Given the description of an element on the screen output the (x, y) to click on. 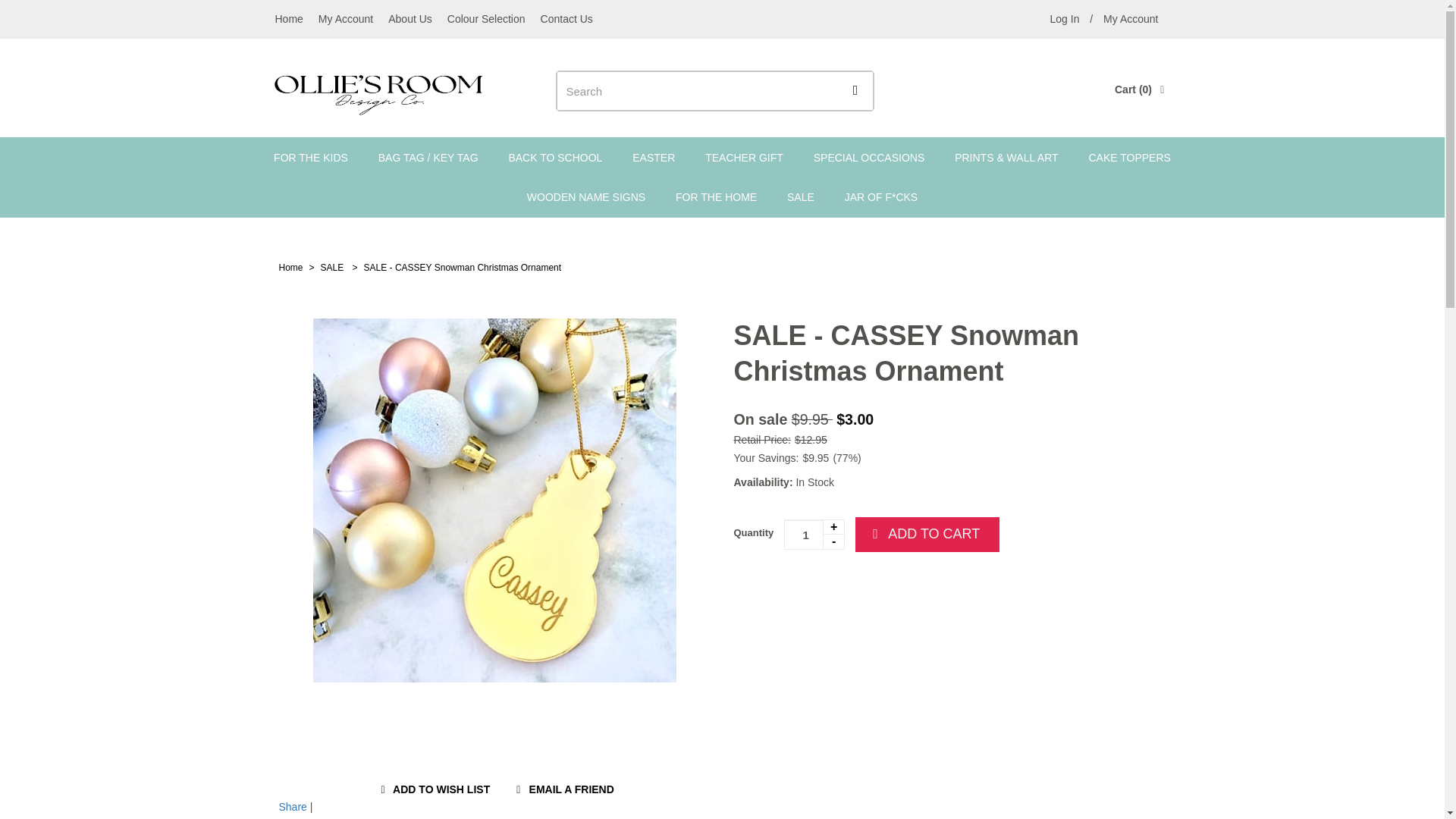
FOR THE HOME (716, 197)
EASTER (653, 157)
Home (290, 267)
About Us (409, 18)
BACK TO SCHOOL (555, 157)
FOR THE KIDS (310, 157)
Home (288, 18)
CAKE TOPPERS (1128, 157)
Colour Selection (485, 18)
SALE (333, 267)
